Given the description of an element on the screen output the (x, y) to click on. 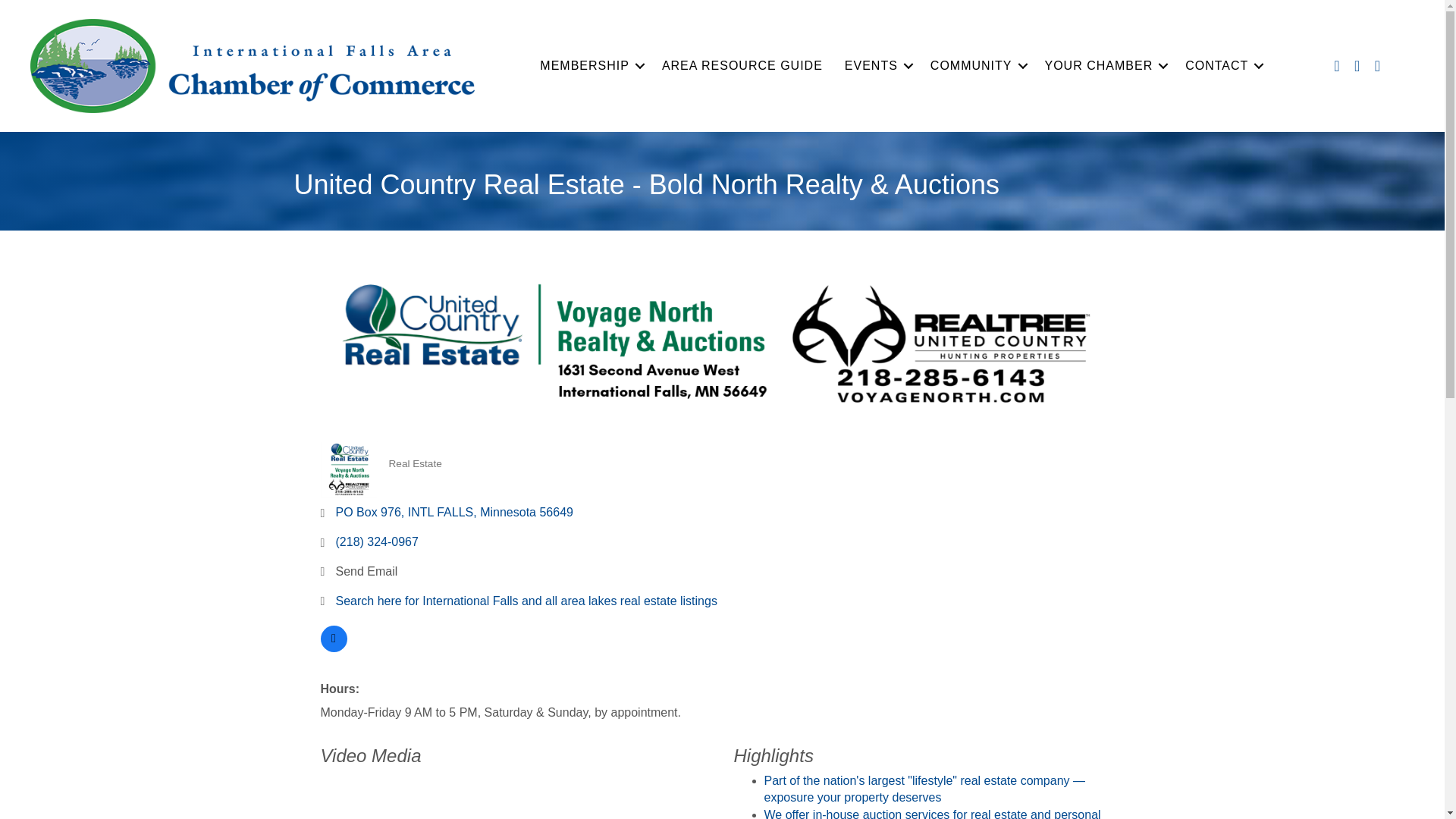
EVENTS (876, 65)
CONTACT (1221, 65)
MEMBERSHIP (589, 65)
Send Email (365, 571)
COMMUNITY (976, 65)
View on Facebook (333, 647)
PO Box 976 INTL FALLS Minnesota 56649 (453, 512)
YOUR CHAMBER (1103, 65)
